Given the description of an element on the screen output the (x, y) to click on. 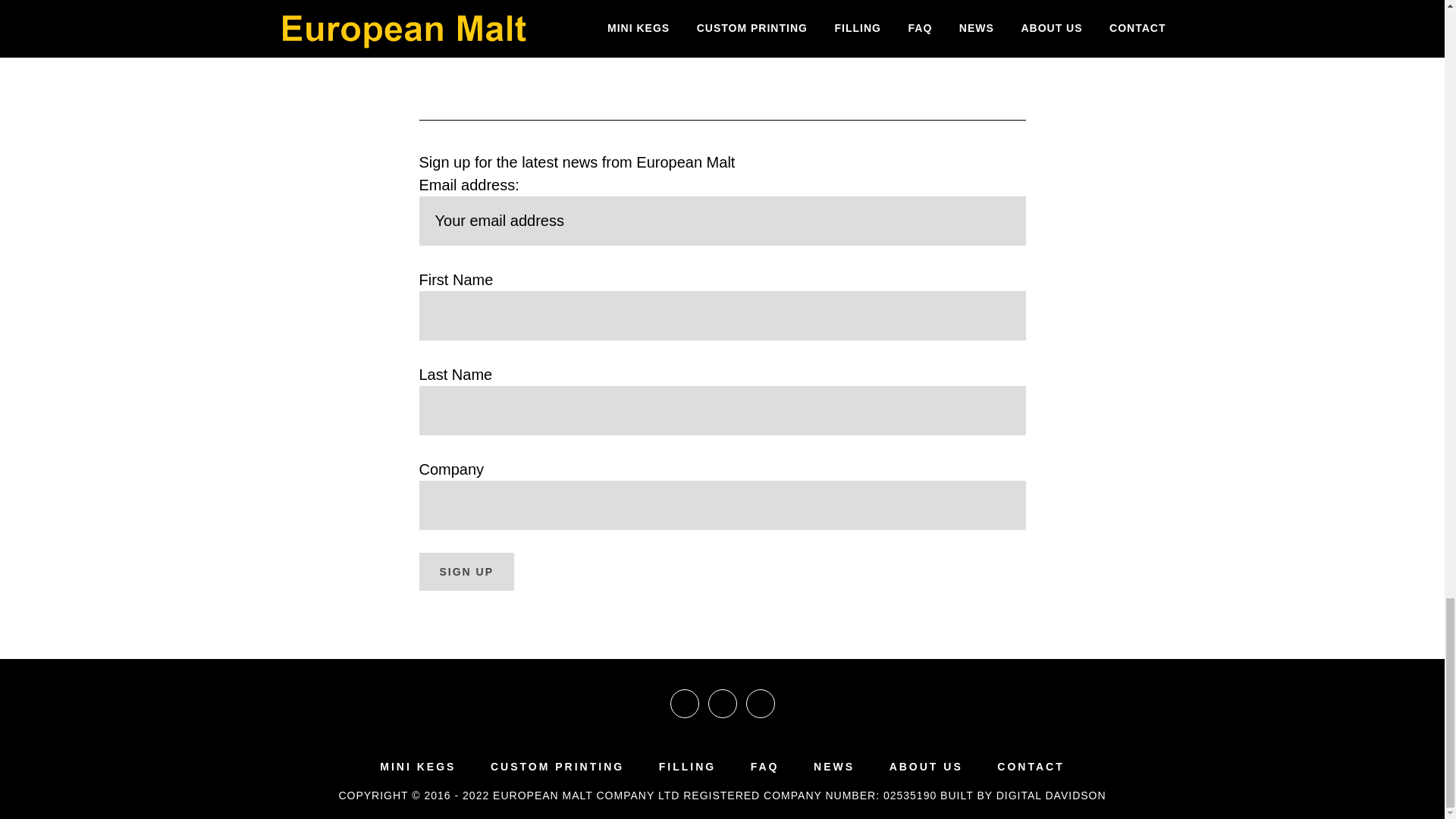
CONTACT (1030, 766)
ABOUT US (925, 766)
Sign up (466, 571)
renegade brewery mini kegs (754, 20)
DIGITAL DAVIDSON (1050, 795)
FAQ (764, 766)
NEWS (833, 766)
custom printed mini kegs (569, 9)
CUSTOM PRINTING (557, 766)
custom printed kegs (725, 9)
great corby mini kegs (734, 9)
woodfordes mini kegs (713, 32)
Sign up (466, 571)
wye valley mini kegs (865, 32)
mini keg artwork (870, 9)
